Given the description of an element on the screen output the (x, y) to click on. 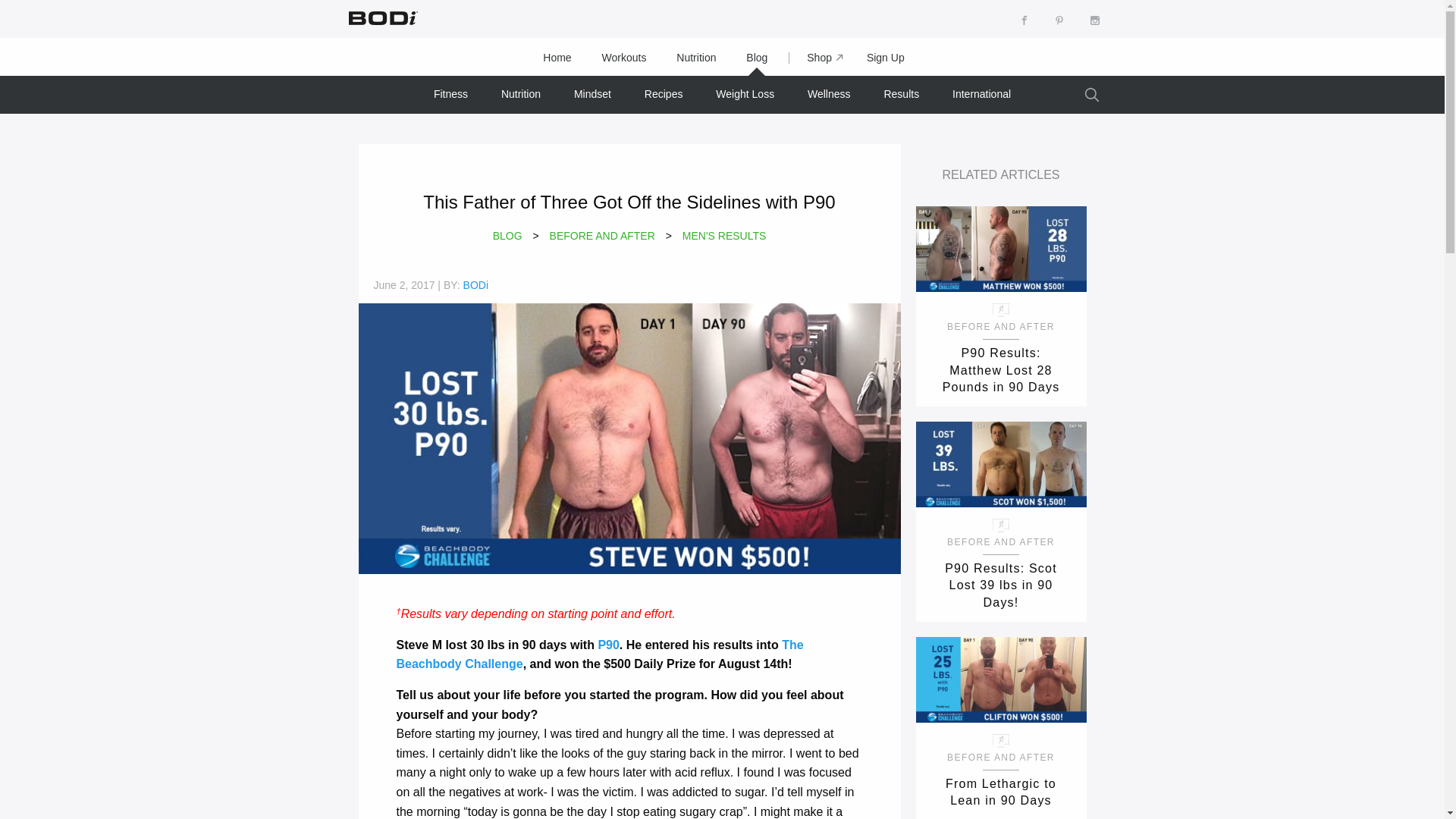
Sign Up (885, 57)
Blog (756, 57)
Nutrition (695, 57)
Fitness (451, 93)
Shop (817, 57)
Friday, June 2, 2017, 3:28 pm (402, 285)
Home (556, 57)
Beachbody on Demand (381, 17)
P90 (607, 644)
Workouts (624, 57)
